Given the description of an element on the screen output the (x, y) to click on. 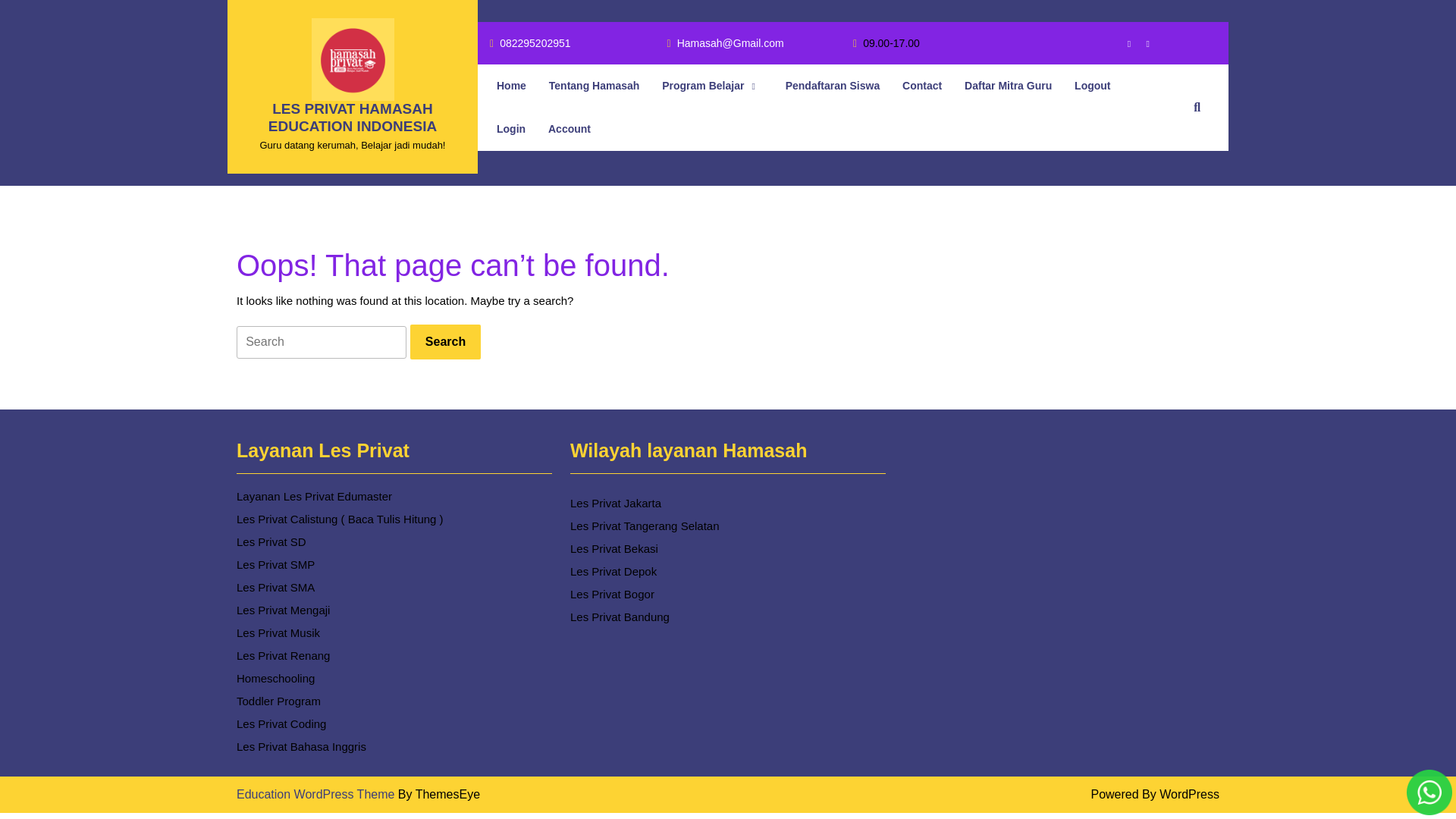
Program Belajar (712, 86)
LES PRIVAT HAMASAH EDUCATION INDONESIA (351, 117)
Search (445, 341)
Logout (1091, 86)
Home (511, 86)
Facebook (1123, 42)
Daftar Mitra Guru (1007, 86)
Account (529, 43)
Tentang Hamasah (569, 128)
Education WordPress Theme (593, 86)
Login (316, 793)
Pendaftaran Siswa (511, 128)
Instagram (832, 86)
Contact (1141, 42)
